Given the description of an element on the screen output the (x, y) to click on. 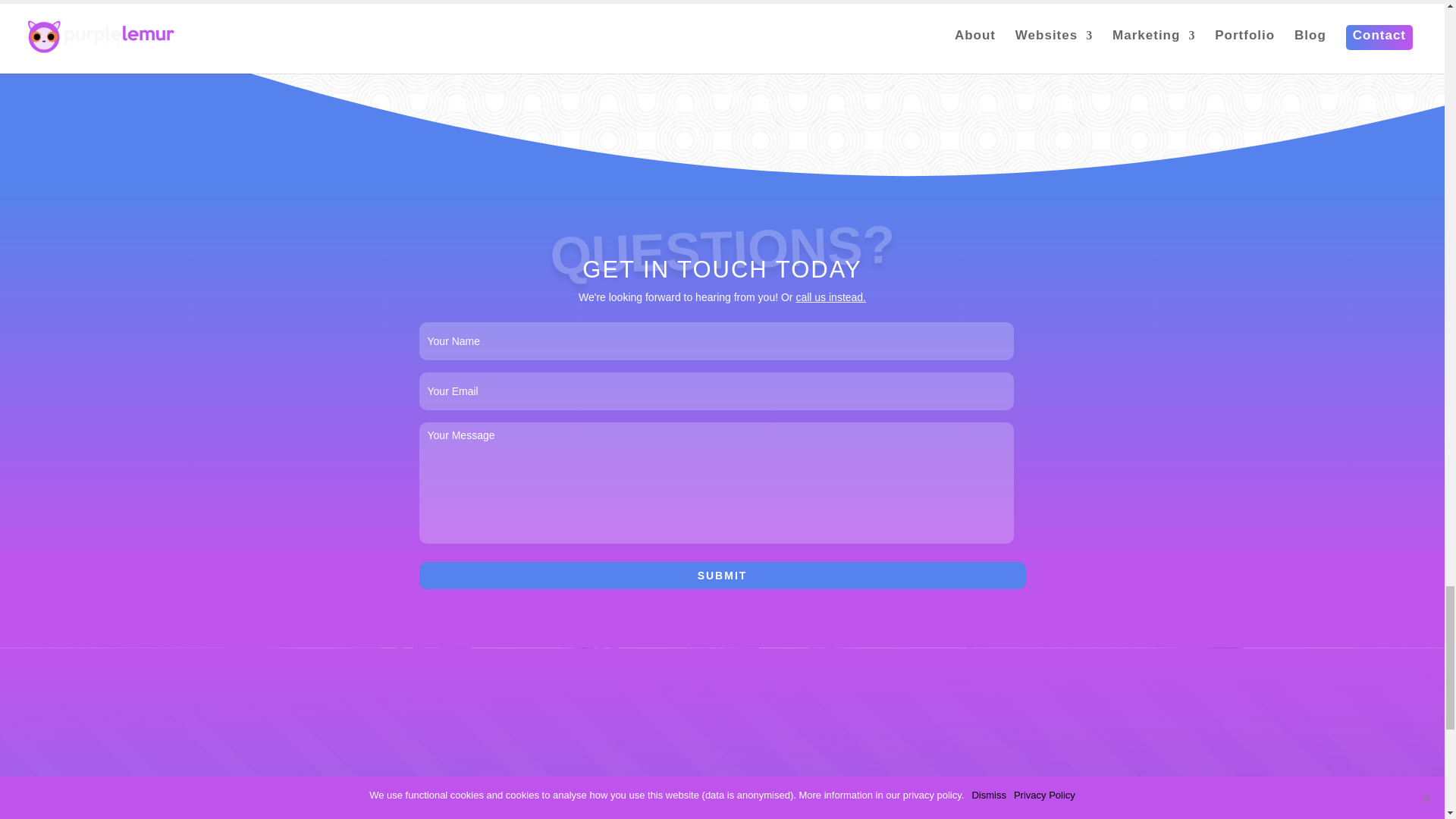
Submit (722, 574)
Natasha (359, 10)
Posts by Natasha (647, 10)
Posts by Natasha (935, 10)
Posts by Natasha (359, 10)
